Given the description of an element on the screen output the (x, y) to click on. 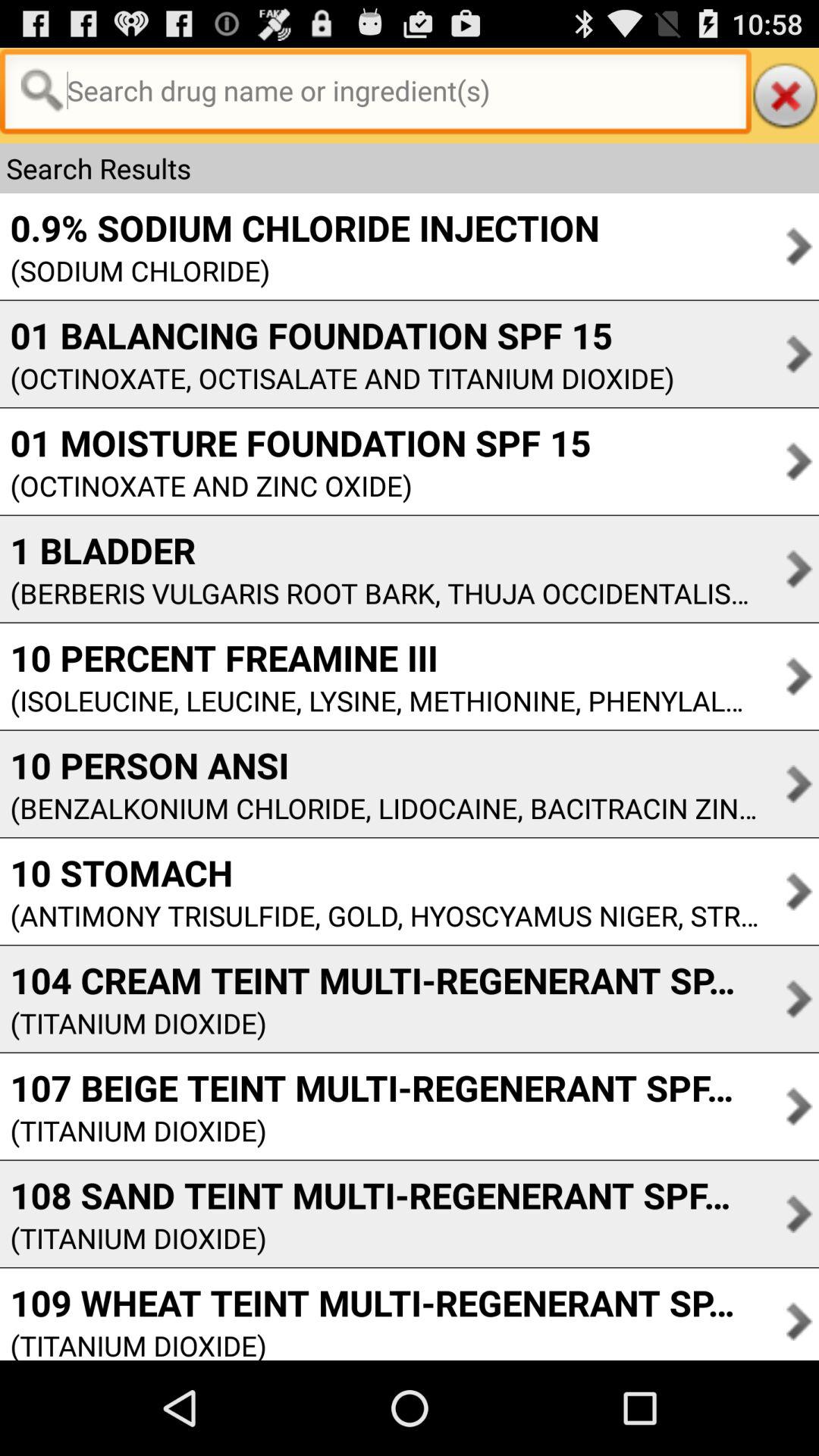
turn off icon above (titanium dioxide) item (379, 980)
